Given the description of an element on the screen output the (x, y) to click on. 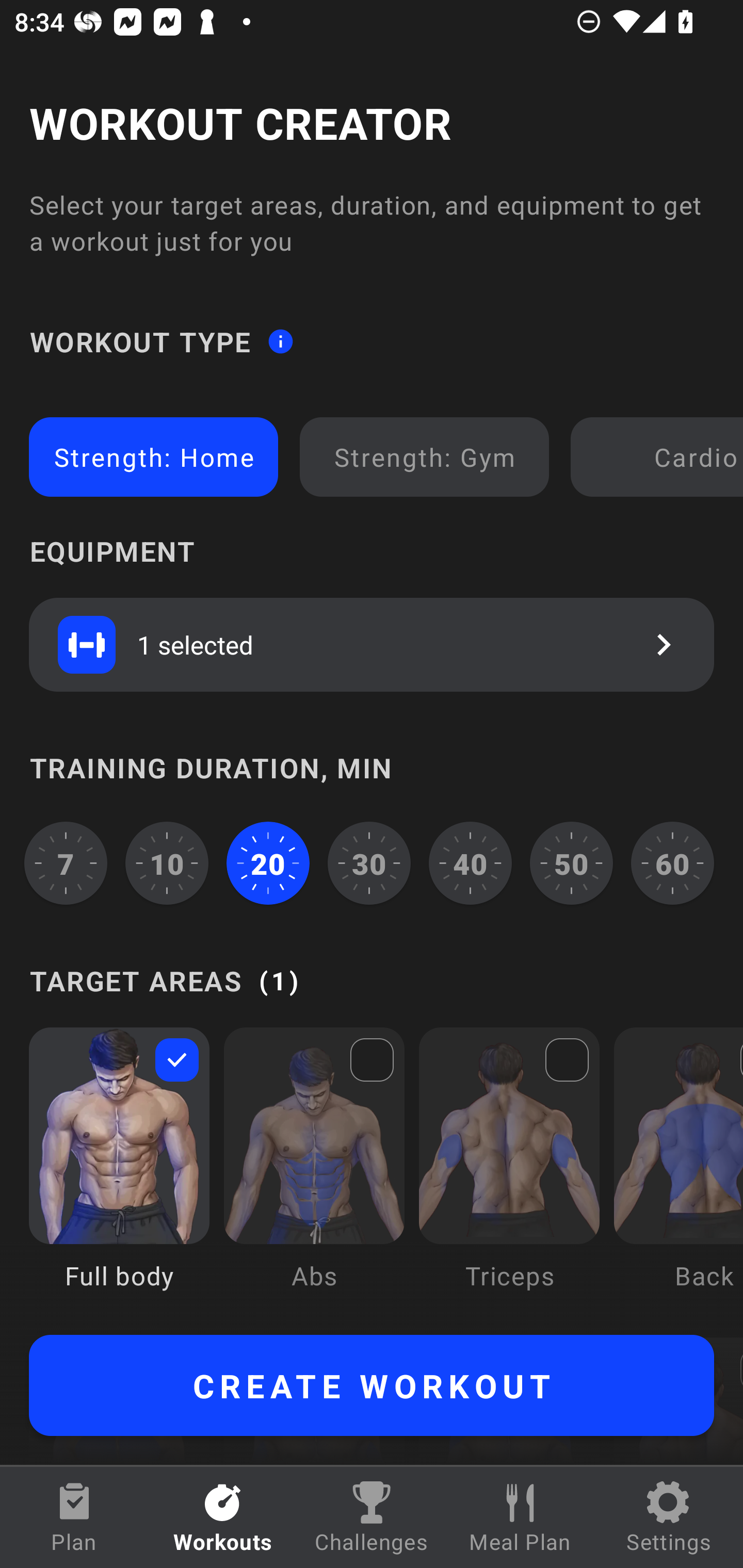
Workout type information button (280, 340)
Strength: Gym (423, 457)
Cardio (660, 457)
1 selected (371, 644)
7 (66, 862)
10 (167, 862)
20 (268, 862)
30 (369, 862)
40 (470, 862)
50 (571, 862)
60 (672, 862)
Abs (313, 1172)
Triceps (509, 1172)
Back (678, 1172)
CREATE WORKOUT (371, 1385)
 Plan  (74, 1517)
 Challenges  (371, 1517)
 Meal Plan  (519, 1517)
 Settings  (668, 1517)
